Given the description of an element on the screen output the (x, y) to click on. 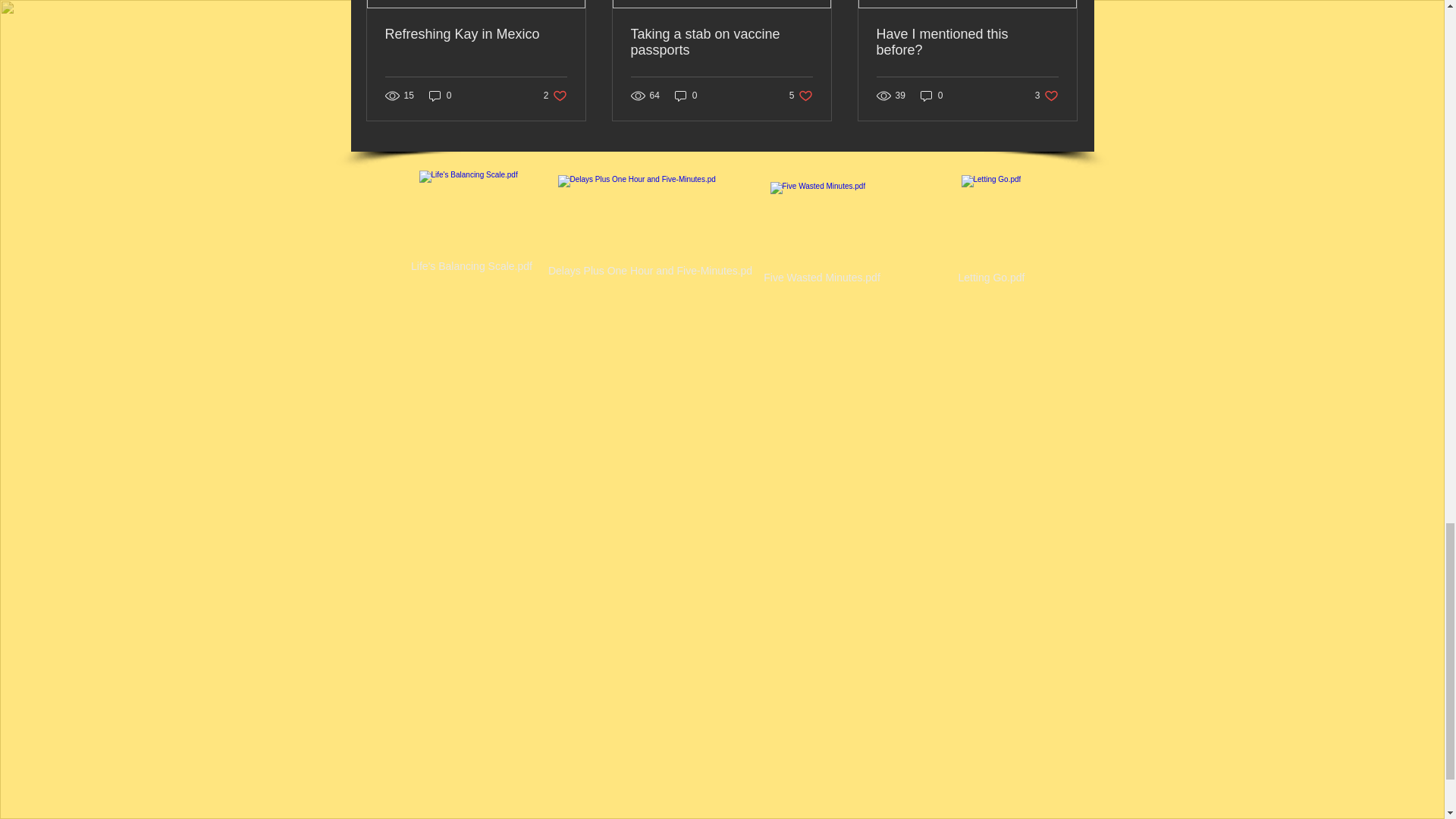
Refreshing Kay in Mexico (476, 34)
Life's Balancing Scale.pdf (471, 223)
Five Wasted Minutes.pdf (821, 234)
Delays Plus One Hour and Five-Minutes.pd (649, 228)
0 (440, 95)
